Given the description of an element on the screen output the (x, y) to click on. 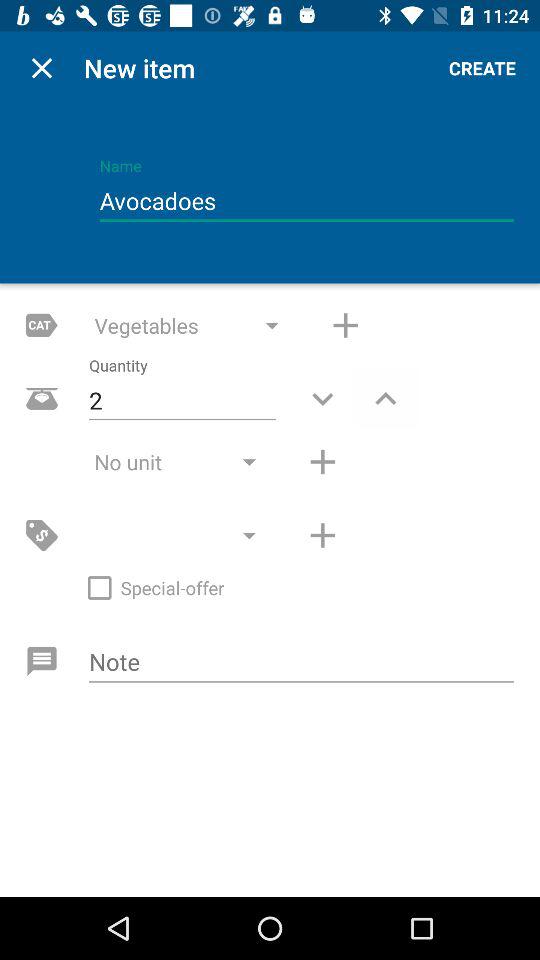
number increasing (322, 462)
